Given the description of an element on the screen output the (x, y) to click on. 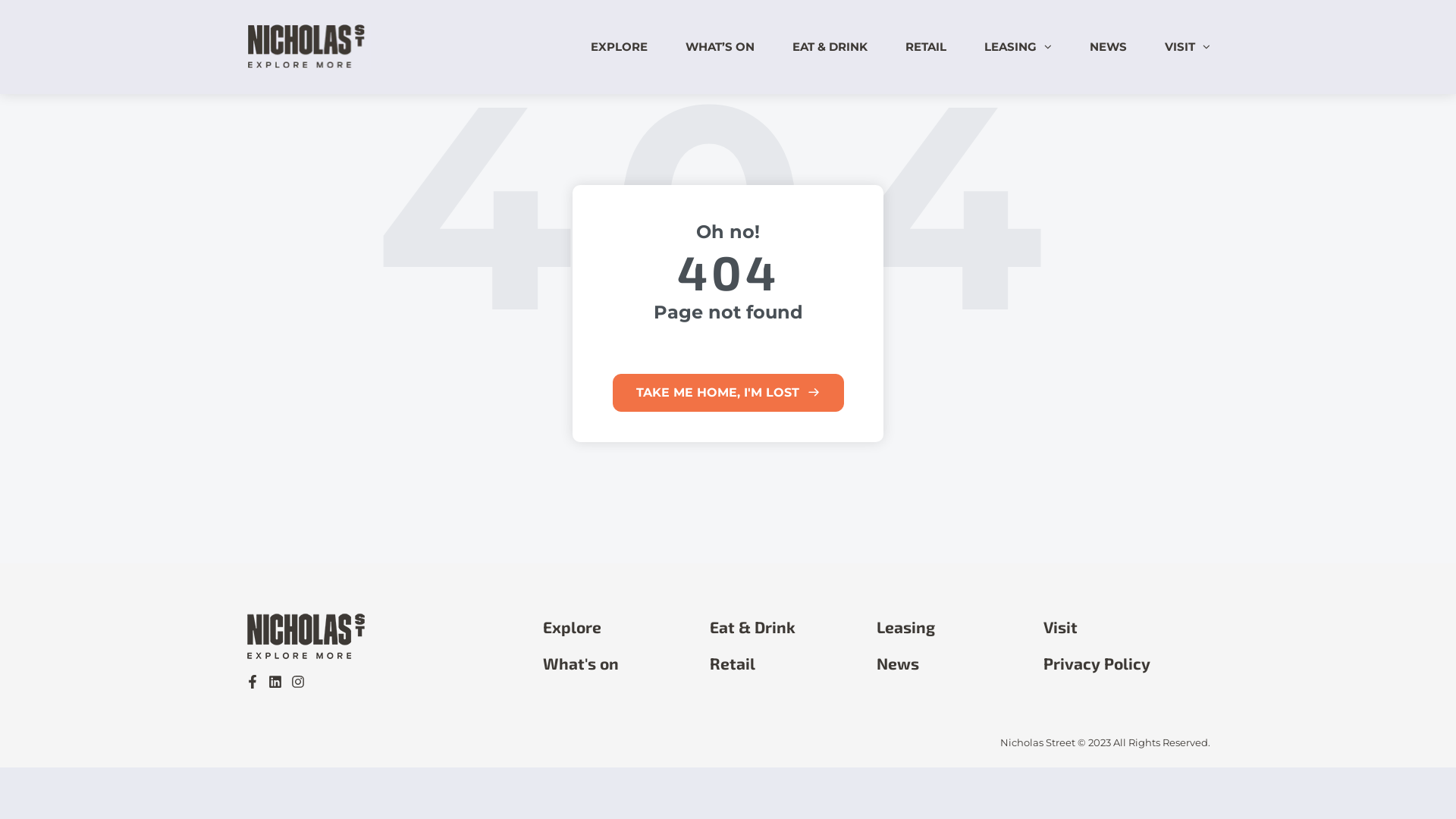
EXPLORE Element type: text (618, 46)
Leasing Element type: text (905, 626)
Explore Element type: text (571, 626)
TAKE ME HOME, I'M LOST Element type: text (728, 392)
Retail Element type: text (732, 663)
News Element type: text (897, 663)
RETAIL Element type: text (925, 46)
Privacy Policy Element type: text (1096, 663)
LEASING Element type: text (1010, 46)
Visit Element type: text (1060, 626)
What's on Element type: text (580, 663)
Nicholas Street Precinct Element type: hover (307, 65)
EAT & DRINK Element type: text (829, 46)
VISIT Element type: text (1179, 46)
NEWS Element type: text (1107, 46)
Eat & Drink Element type: text (752, 626)
